Given the description of an element on the screen output the (x, y) to click on. 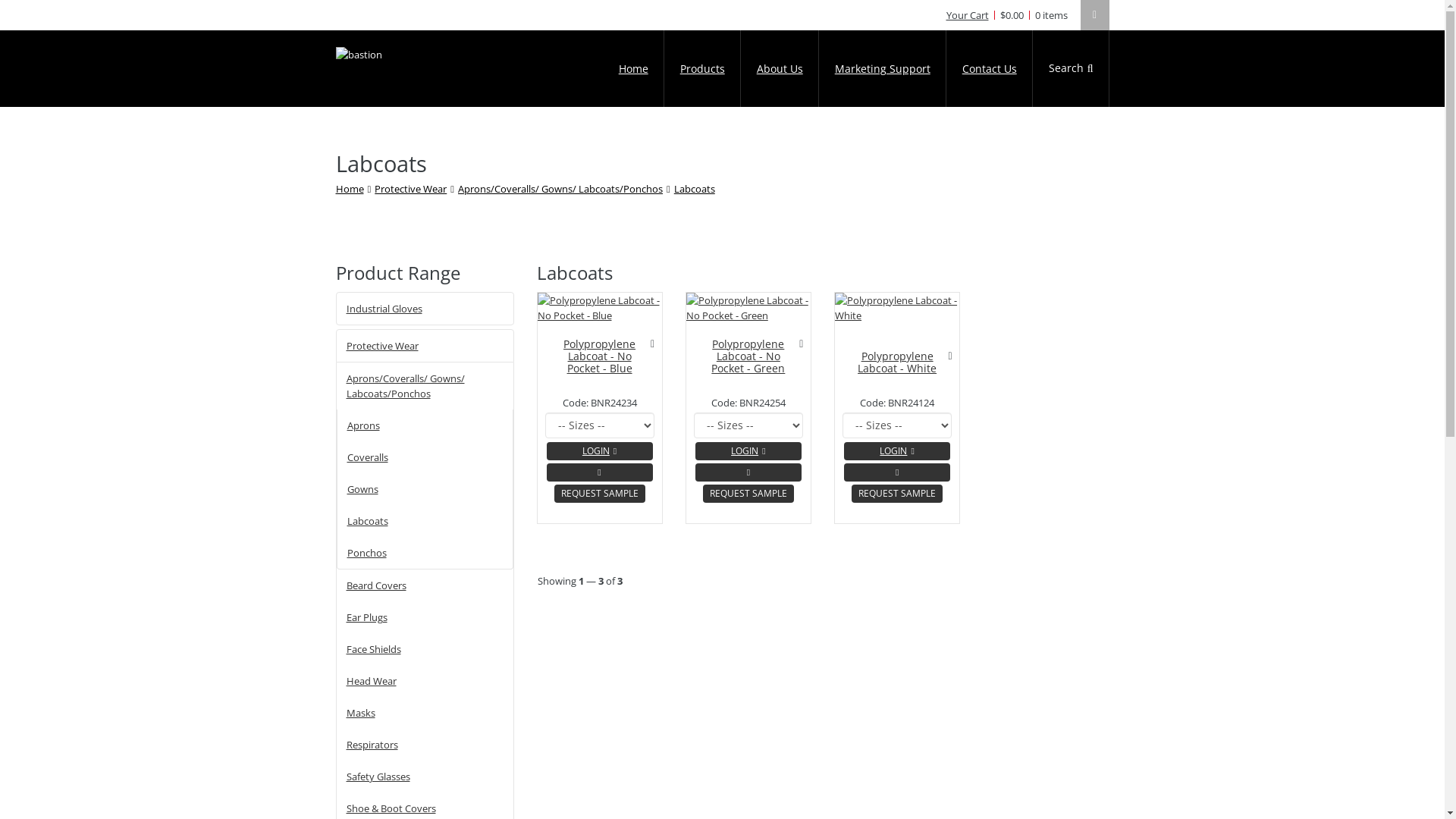
Marketing Support Element type: text (882, 68)
Home Element type: text (349, 188)
Ear Plugs Element type: text (424, 617)
Labcoats Element type: text (423, 520)
VIEW PRODUCT Element type: text (599, 472)
Safety Glasses Element type: text (424, 776)
VIEW PRODUCT Element type: text (748, 472)
Gowns Element type: text (423, 489)
Protective Wear Element type: text (410, 188)
Labcoats Element type: text (694, 188)
Industrial Gloves Element type: text (424, 308)
Masks Element type: text (424, 712)
Polypropylene Labcoat - No Pocket - Green Element type: text (748, 356)
Head Wear Element type: text (424, 680)
LOGIN Element type: text (897, 451)
Coveralls Element type: text (423, 457)
Face Shields Element type: text (424, 649)
Contact Us Element type: text (989, 68)
Polypropylene Labcoat - No Pocket - Blue Element type: text (599, 356)
Your Cart Element type: text (967, 14)
REQUEST SAMPLE Element type: text (747, 493)
REQUEST SAMPLE Element type: text (896, 493)
Home Element type: text (633, 68)
Beard Covers Element type: text (424, 585)
Aprons/Coveralls/ Gowns/ Labcoats/Ponchos Element type: text (424, 385)
LOGIN Element type: text (599, 451)
Ponchos Element type: text (423, 552)
LOGIN Element type: text (748, 451)
About Us Element type: text (779, 68)
VIEW PRODUCT Element type: text (897, 472)
Products Element type: text (702, 68)
REQUEST SAMPLE Element type: text (599, 493)
Respirators Element type: text (424, 744)
Polypropylene Labcoat - White Element type: text (897, 362)
Aprons/Coveralls/ Gowns/ Labcoats/Ponchos Element type: text (560, 188)
Aprons Element type: text (423, 425)
Protective Wear Element type: text (424, 345)
